Given the description of an element on the screen output the (x, y) to click on. 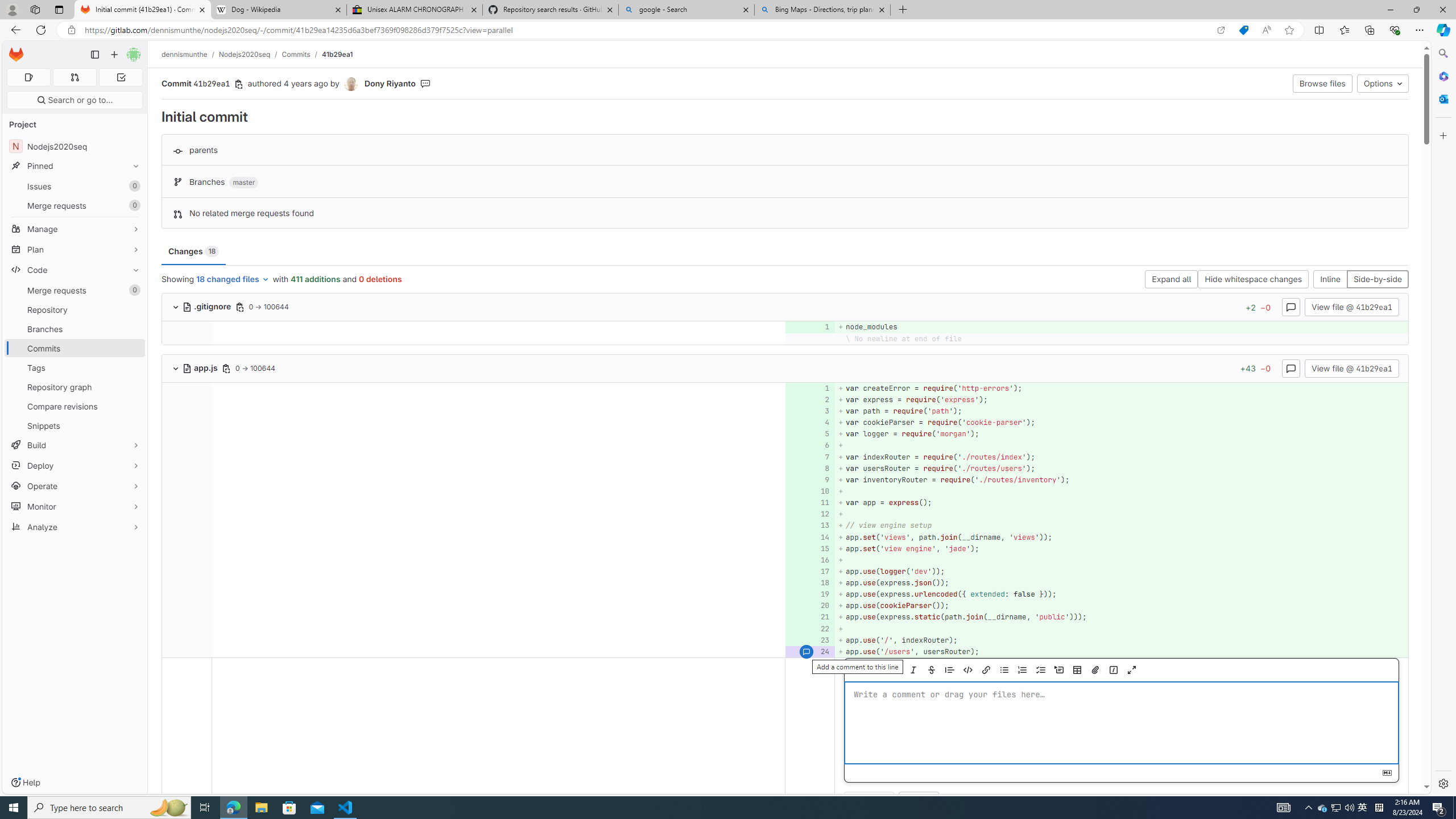
21 (808, 617)
Changes 18 (193, 251)
Issues 0 (74, 185)
+ var logger = require('morgan');  (1120, 434)
Unpin Merge requests (132, 290)
Pinned (74, 165)
Snippets (74, 425)
Add a comment to this line 19 (809, 594)
Snippets (74, 425)
+ var usersRouter = require('./routes/users');  (1120, 468)
Deploy (74, 465)
